Given the description of an element on the screen output the (x, y) to click on. 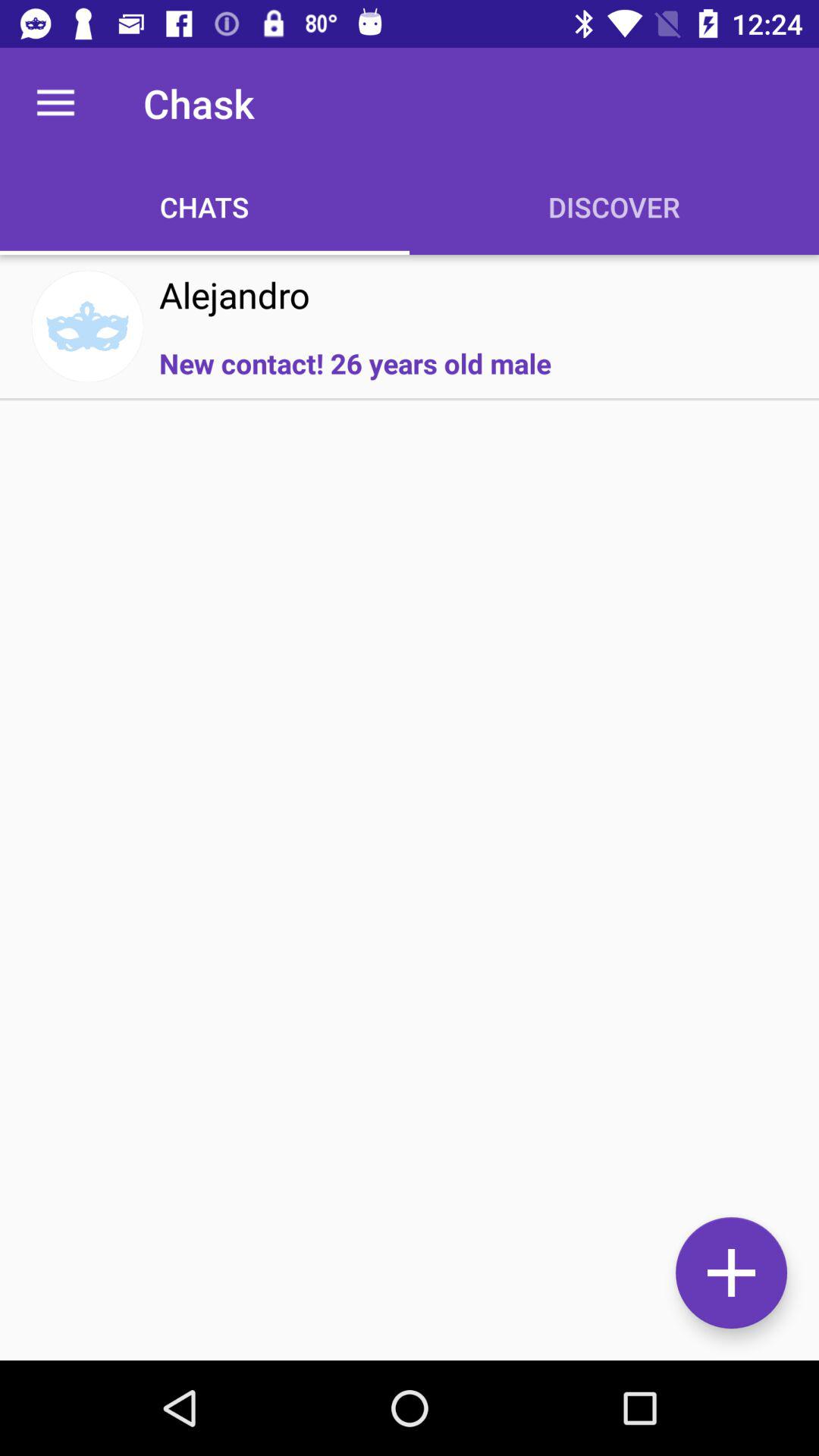
choose the item to the left of the chask icon (55, 103)
